Given the description of an element on the screen output the (x, y) to click on. 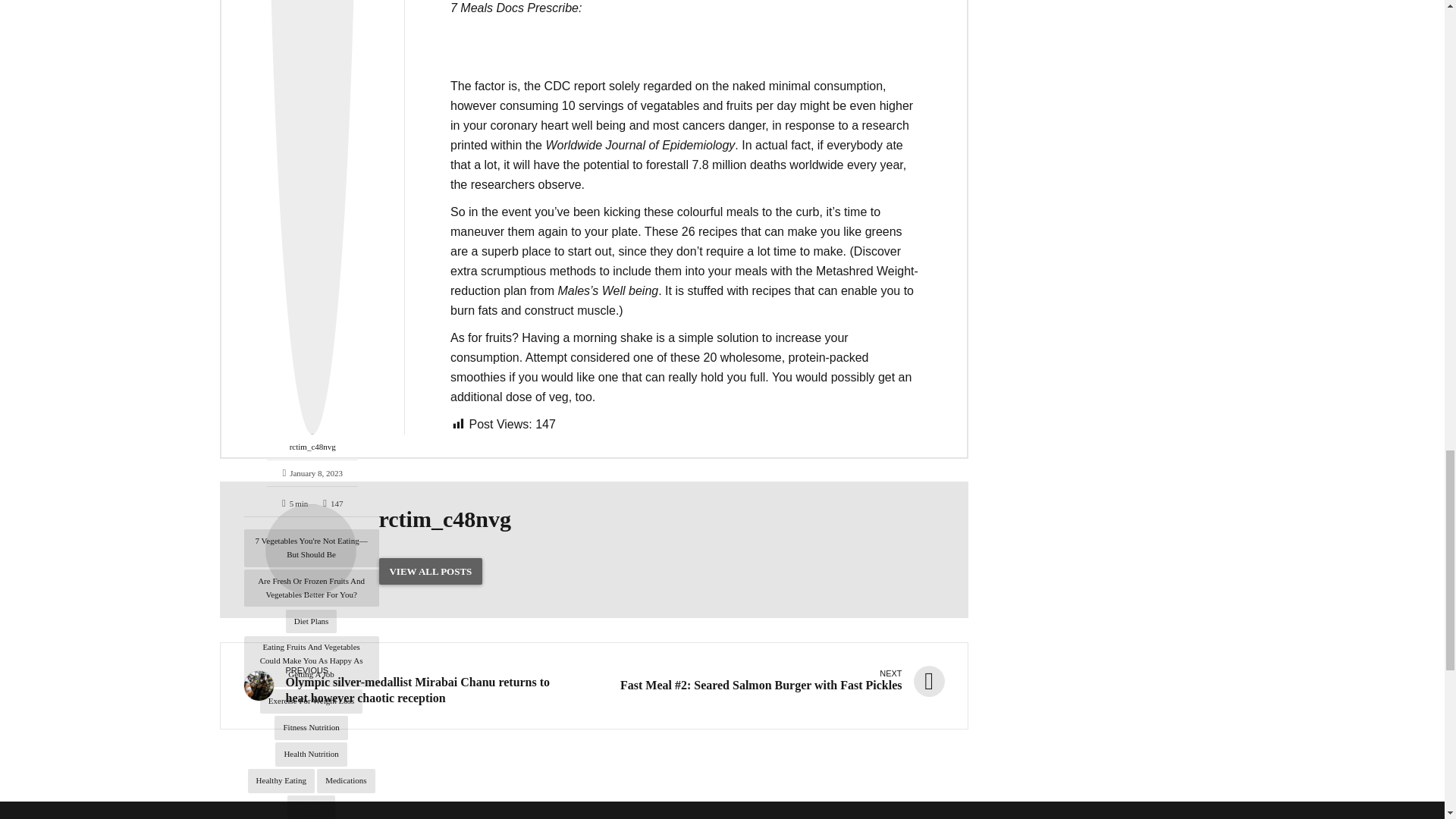
Diet Plans (311, 621)
Medications (345, 781)
Healthy Eating (280, 781)
Nutrition (310, 807)
Fitness Nutrition (311, 727)
Health Nutrition (310, 754)
Exercise For Weight Loss (311, 701)
Are Fresh Or Frozen Fruits And Vegetables Better For You? (311, 588)
